Given the description of an element on the screen output the (x, y) to click on. 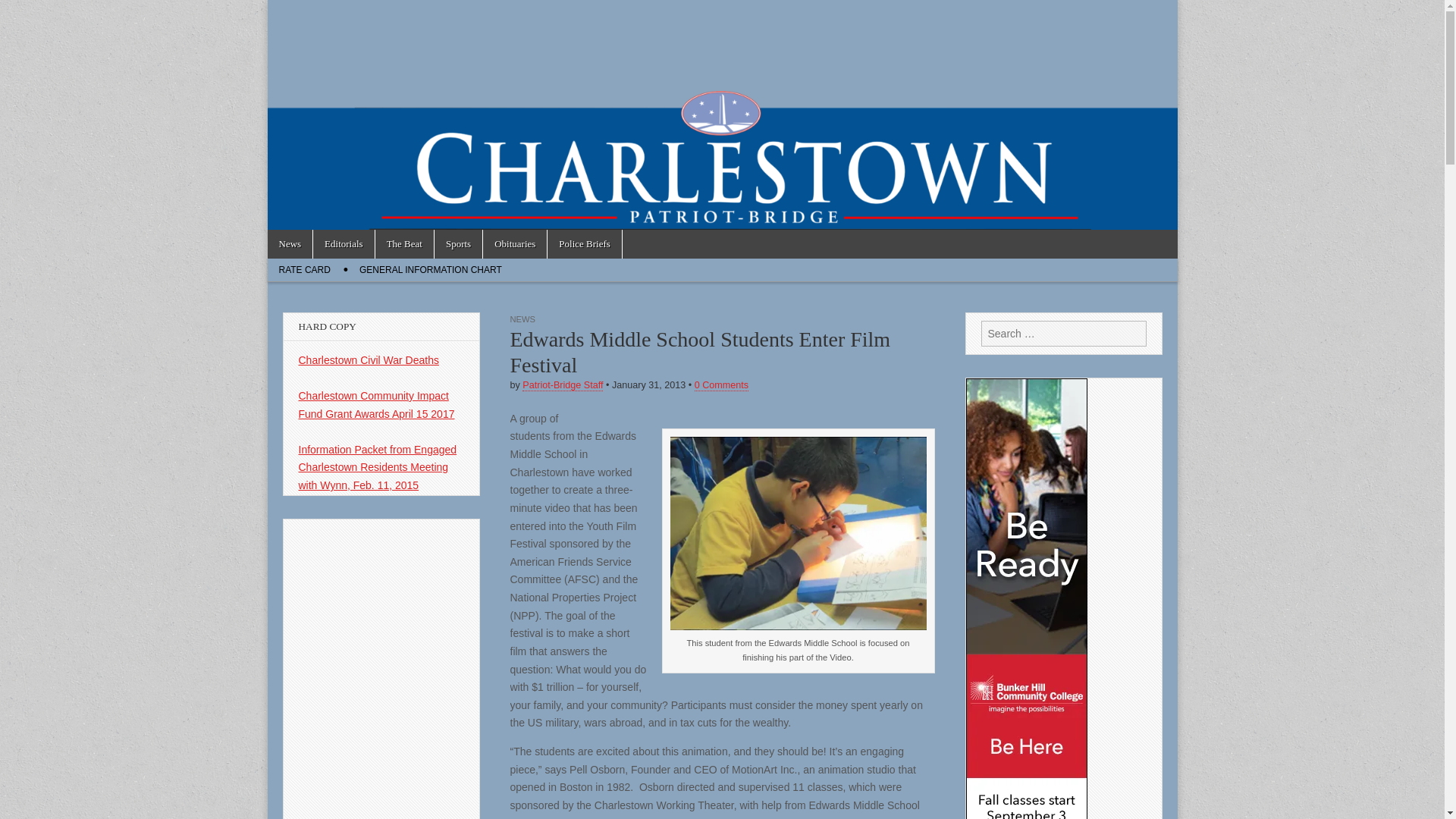
Search (23, 12)
GENERAL INFORMATION CHART (430, 269)
RATE CARD (303, 269)
Charlestown Community Impact Fund Grant Awards April 15 2017 (376, 404)
0 Comments (721, 385)
Editorials (343, 244)
Patriot-Bridge Staff (562, 385)
NEWS (522, 318)
The Beat (404, 244)
